Given the description of an element on the screen output the (x, y) to click on. 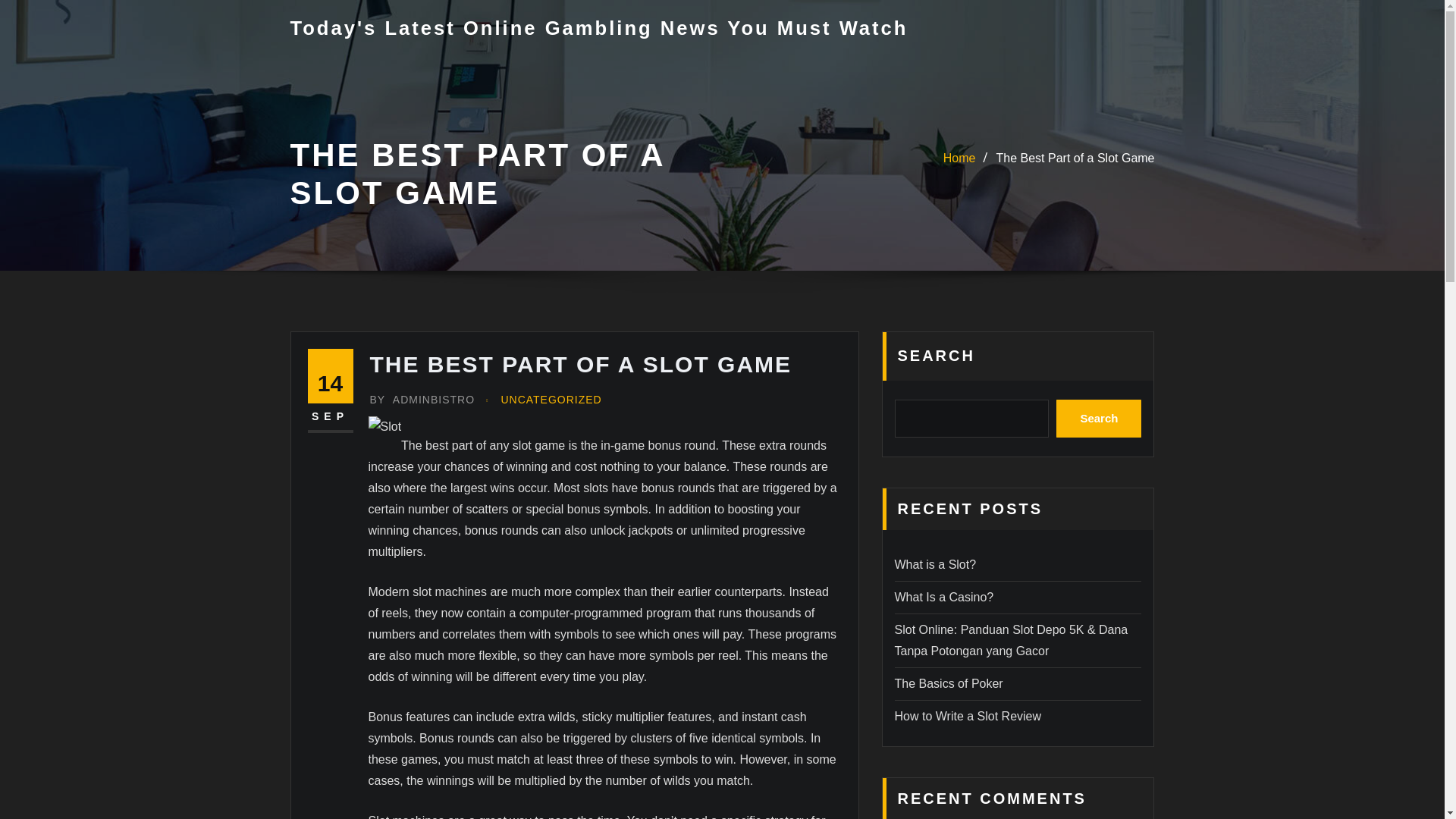
The Basics of Poker (949, 683)
UNCATEGORIZED (550, 399)
BY ADMINBISTRO (422, 399)
Today's Latest Online Gambling News You Must Watch (598, 27)
How to Write a Slot Review (968, 716)
The Best Part of a Slot Game (1074, 157)
Home (959, 157)
Search (1099, 418)
What Is a Casino? (944, 596)
What is a Slot? (935, 563)
